Given the description of an element on the screen output the (x, y) to click on. 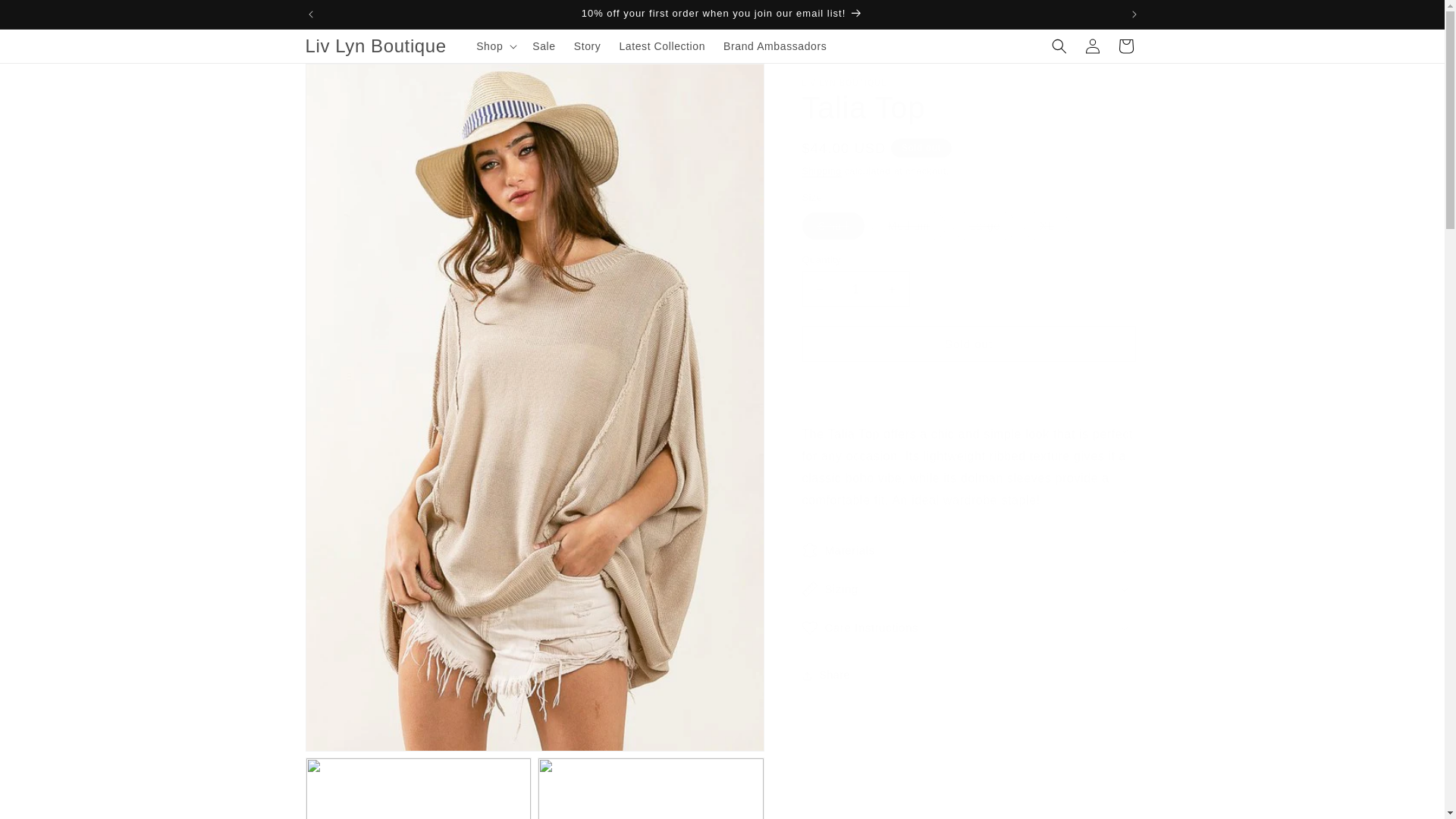
1 (856, 289)
Open media 3 in modal (650, 788)
Open media 2 in modal (417, 788)
Skip to content (45, 17)
Liv Lyn Boutique (375, 46)
